Given the description of an element on the screen output the (x, y) to click on. 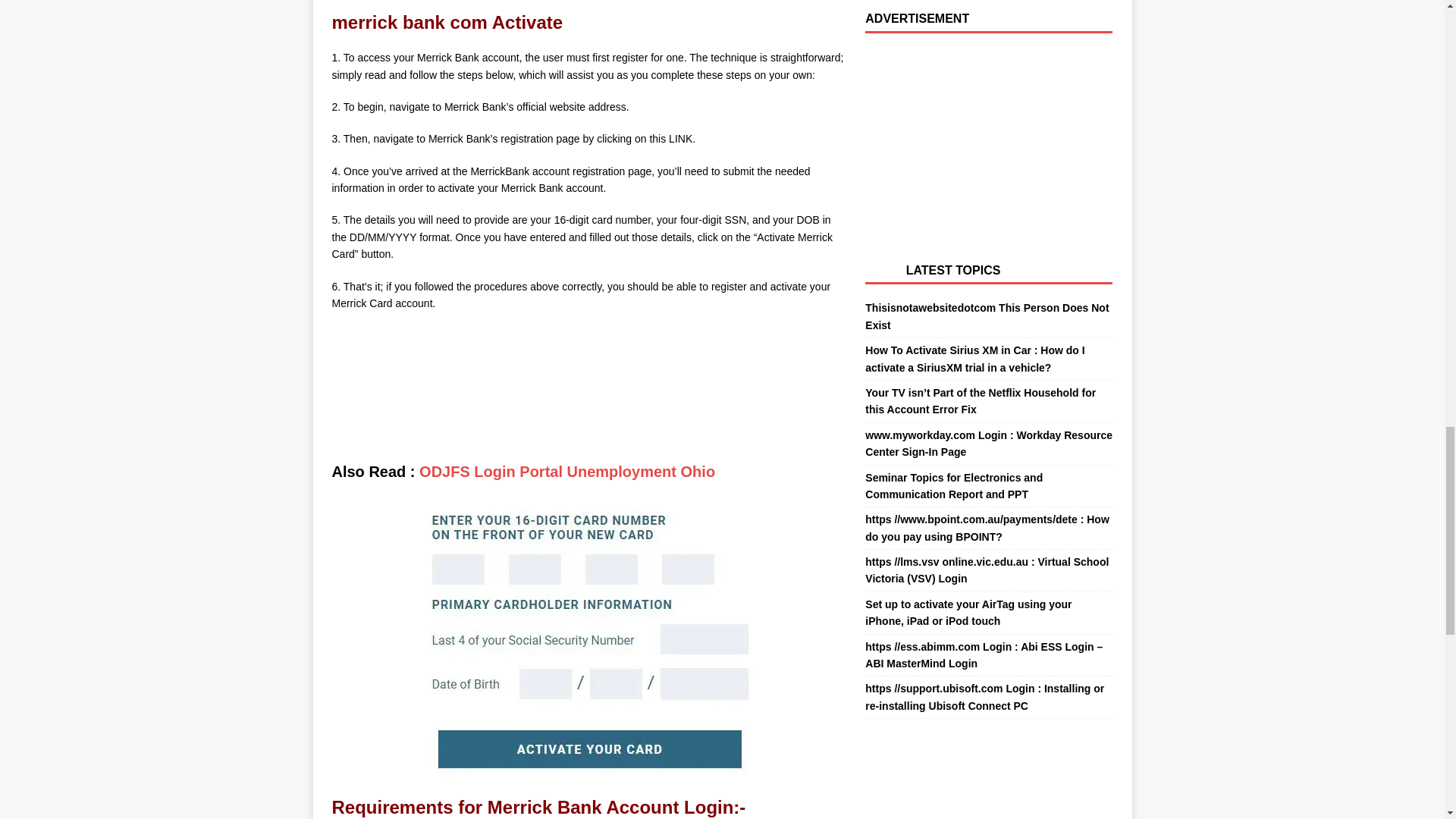
ODJFS Login Portal Unemployment Ohio (566, 471)
